Given the description of an element on the screen output the (x, y) to click on. 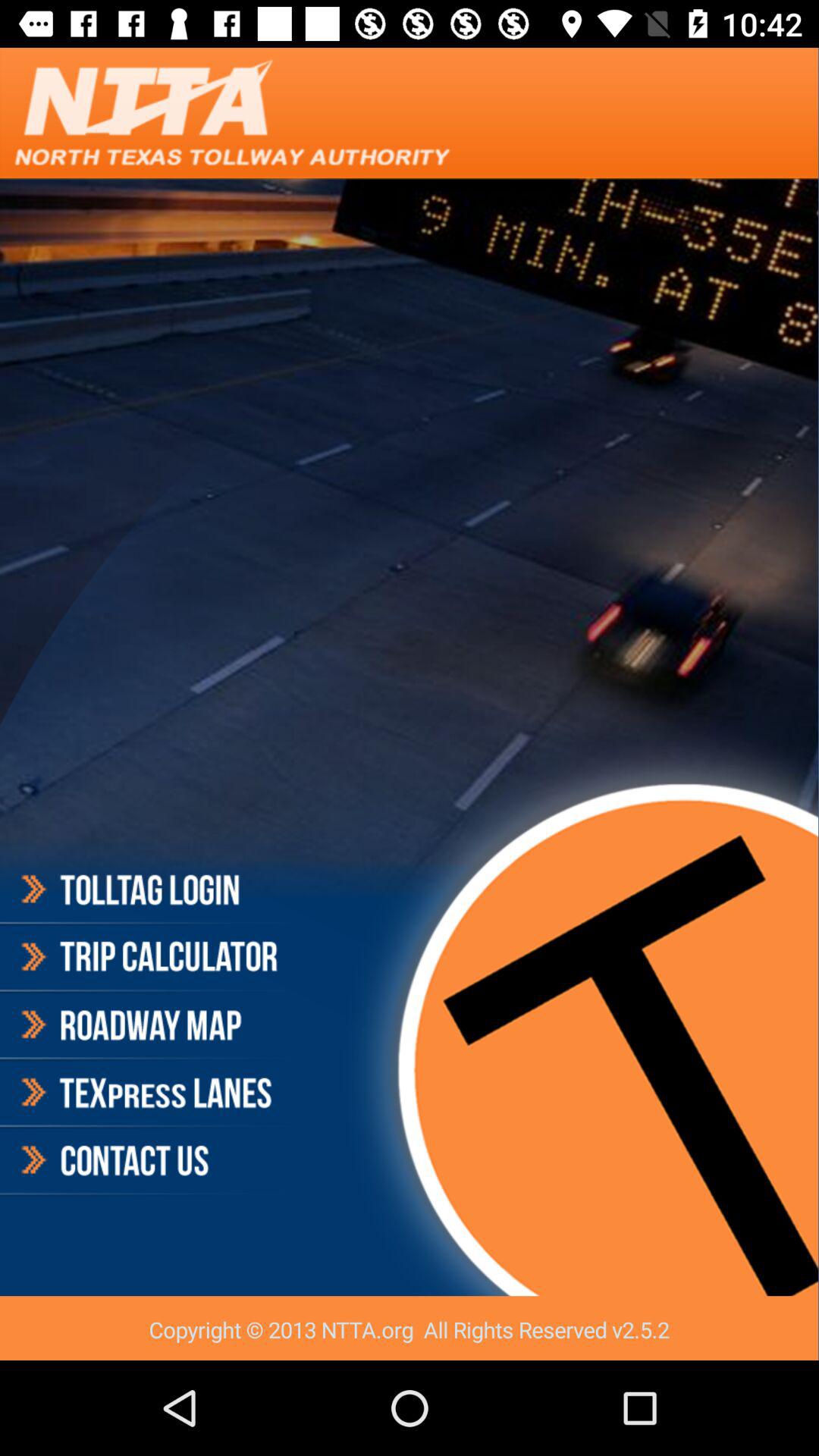
login (147, 891)
